Given the description of an element on the screen output the (x, y) to click on. 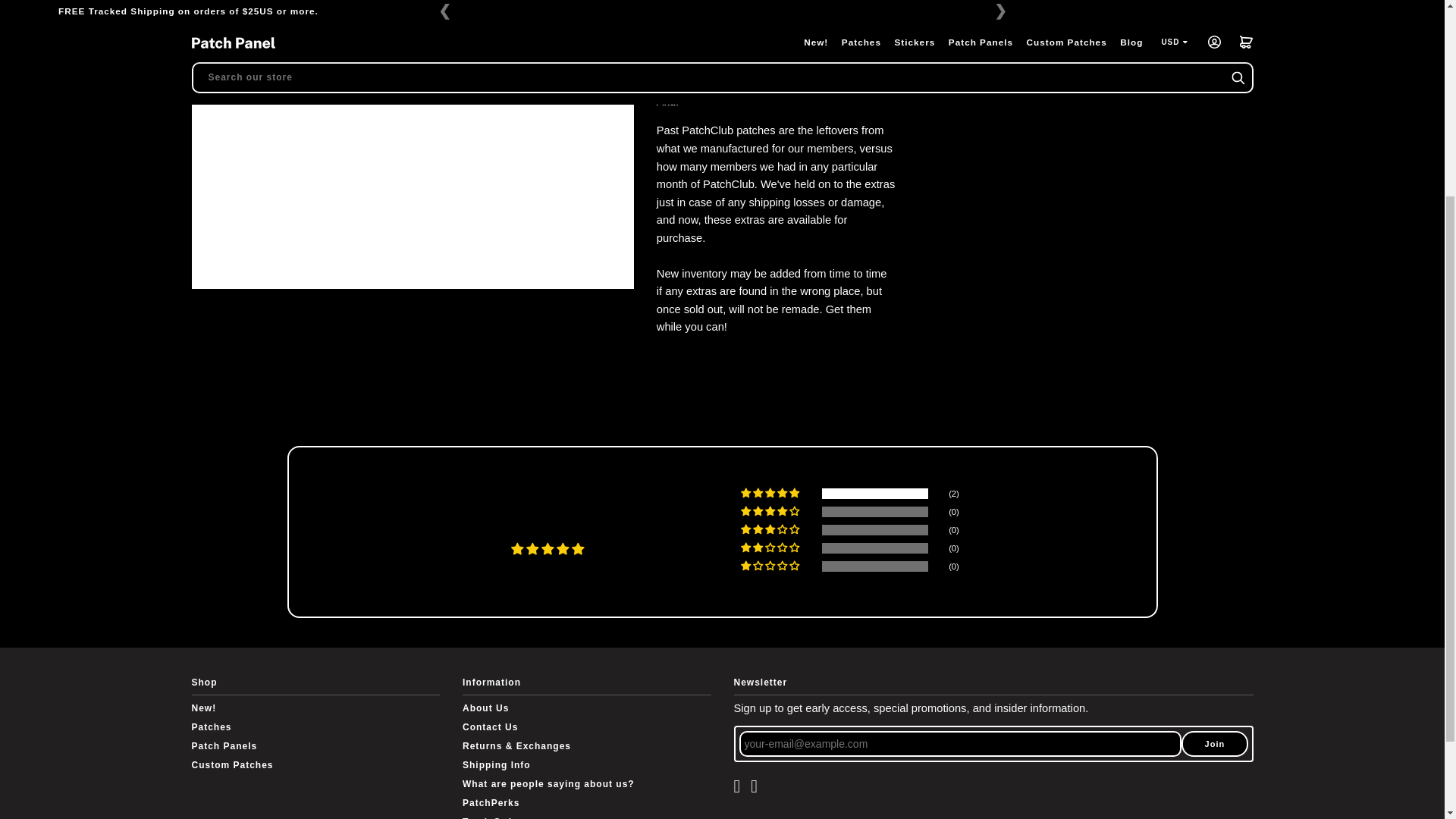
Join (1213, 743)
